Given the description of an element on the screen output the (x, y) to click on. 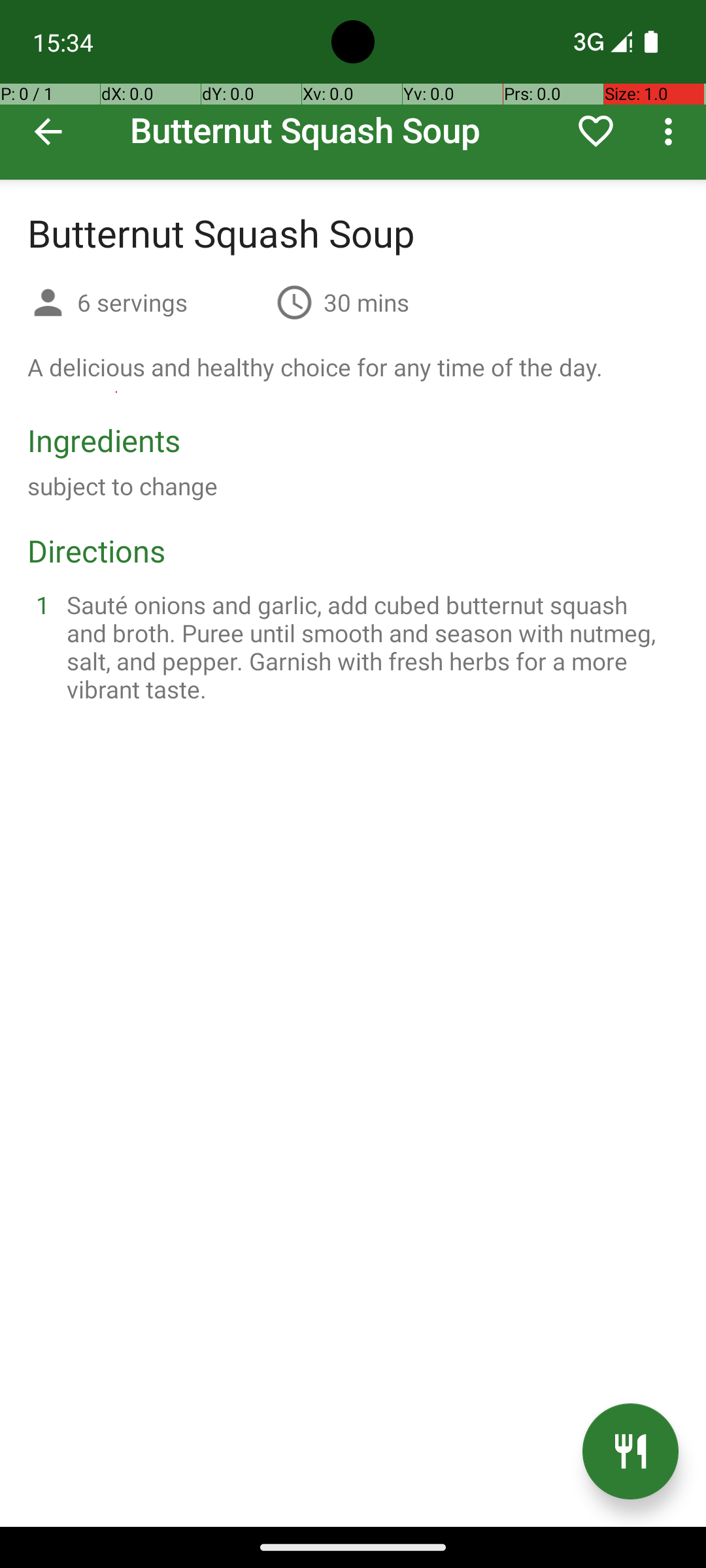
Butternut Squash Soup Element type: android.widget.FrameLayout (353, 89)
Cook Element type: android.widget.ImageButton (630, 1451)
Mark as favorite Element type: android.widget.Button (595, 131)
Servings Element type: android.widget.ImageView (47, 303)
6 servings Element type: android.widget.TextView (170, 301)
30 mins Element type: android.widget.TextView (366, 301)
A delicious and healthy choice for any time of the day. Element type: android.widget.TextView (314, 366)
subject to change Element type: android.widget.TextView (122, 485)
Directions Element type: android.widget.TextView (96, 550)
Sauté onions and garlic, add cubed butternut squash and broth. Puree until smooth and season with nutmeg, salt, and pepper. Garnish with fresh herbs for a more vibrant taste. Element type: android.widget.TextView (368, 646)
